Given the description of an element on the screen output the (x, y) to click on. 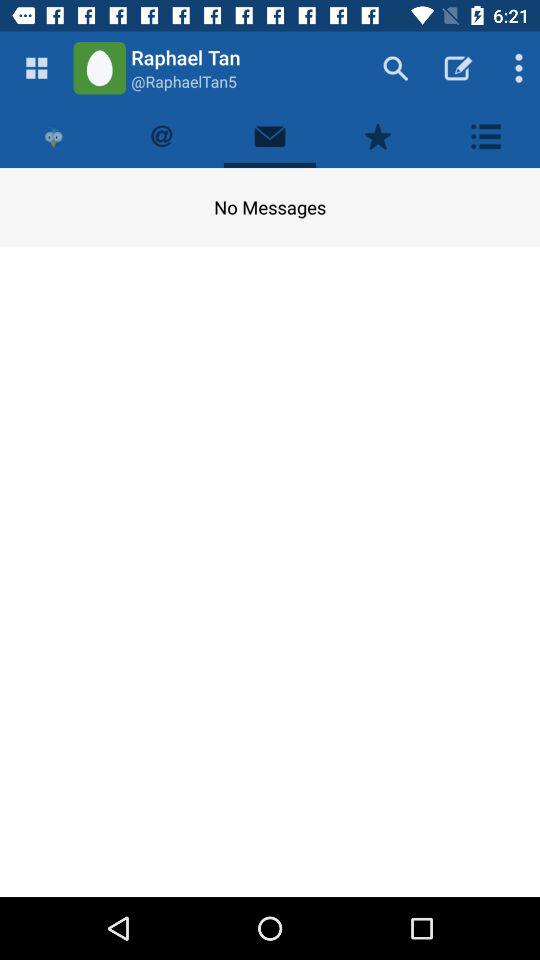
options (486, 136)
